Given the description of an element on the screen output the (x, y) to click on. 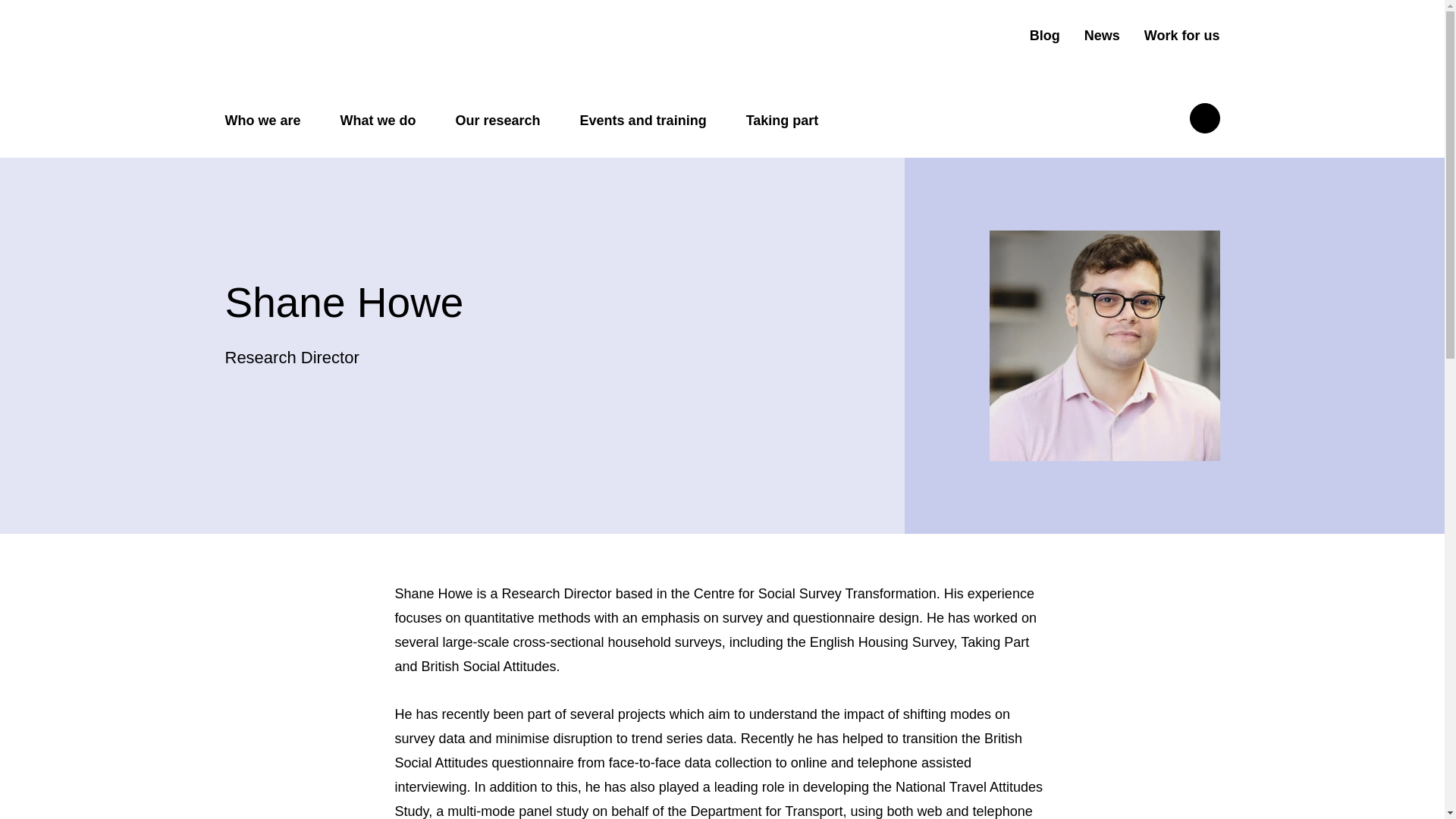
Taking part (781, 122)
Events and training (642, 122)
News (1101, 36)
Return to the homepage (344, 48)
Our research (497, 122)
What we do (378, 122)
Who we are (261, 122)
Work for us (1182, 36)
Blog (1044, 36)
